Given the description of an element on the screen output the (x, y) to click on. 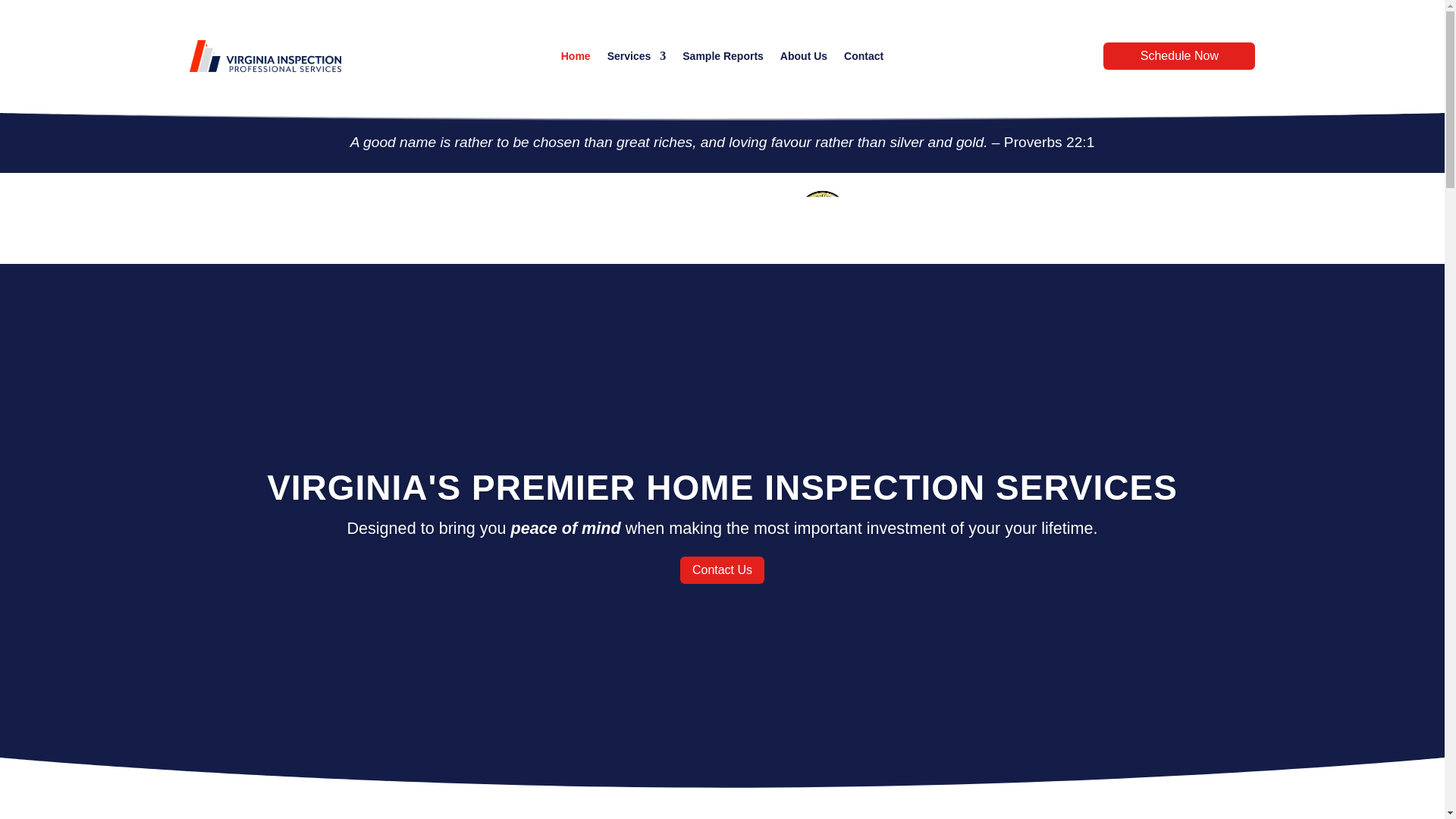
Services (636, 58)
Home (575, 58)
Sample Reports (722, 58)
About Us (803, 58)
Virginia-Inspection-Professional-Services-Logo-Color-1000px (264, 55)
IMG-0276 (821, 218)
Schedule Now (1179, 56)
Contact (863, 58)
